Given the description of an element on the screen output the (x, y) to click on. 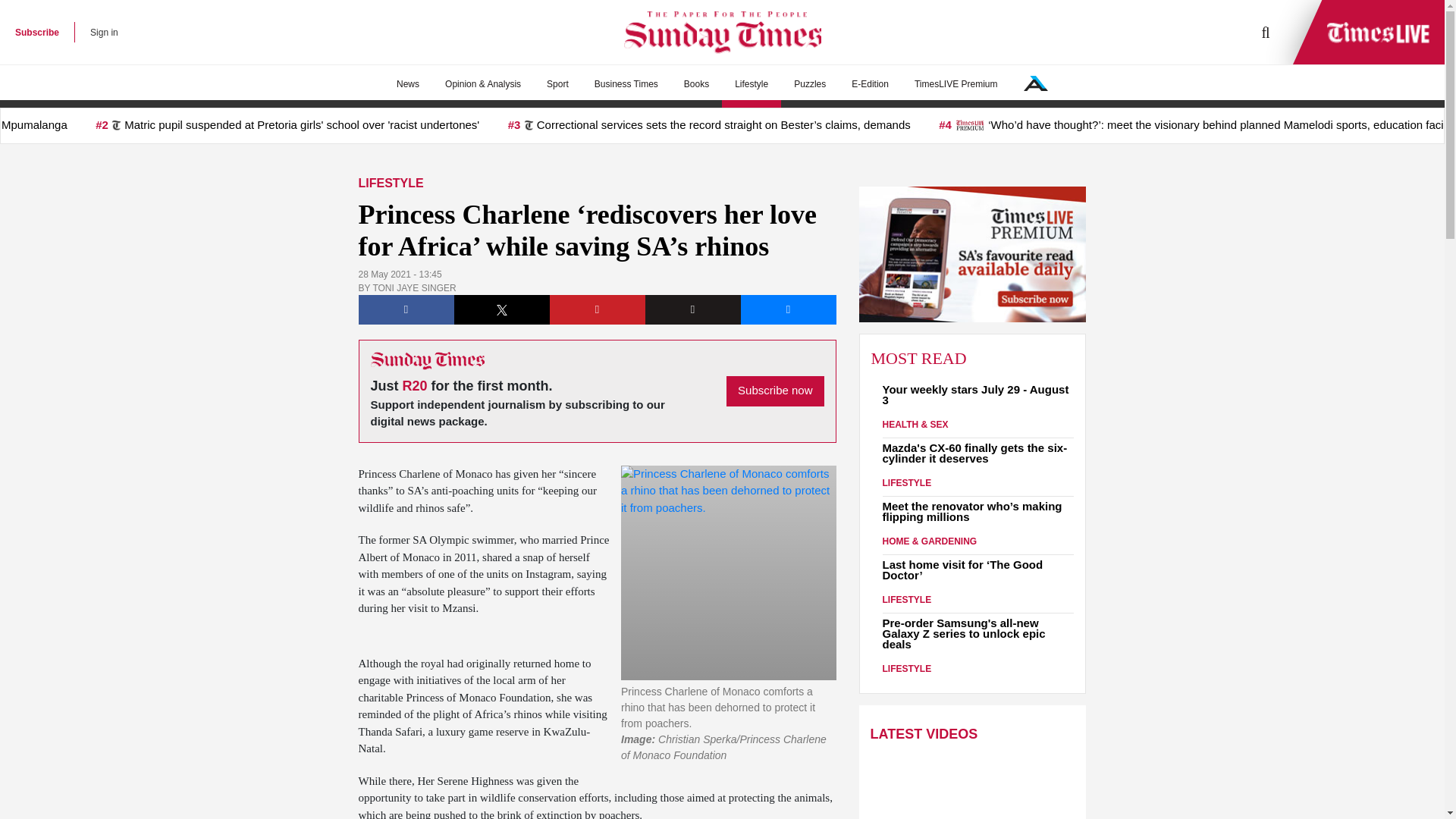
Subscribe (36, 32)
Puzzles (809, 84)
Business Times (625, 84)
Sport (557, 84)
Lifestyle (751, 84)
Books (696, 84)
TimesLIVE Premium (955, 84)
Sign in (103, 32)
E-Edition (869, 84)
News (408, 84)
Our Network (1035, 83)
